Given the description of an element on the screen output the (x, y) to click on. 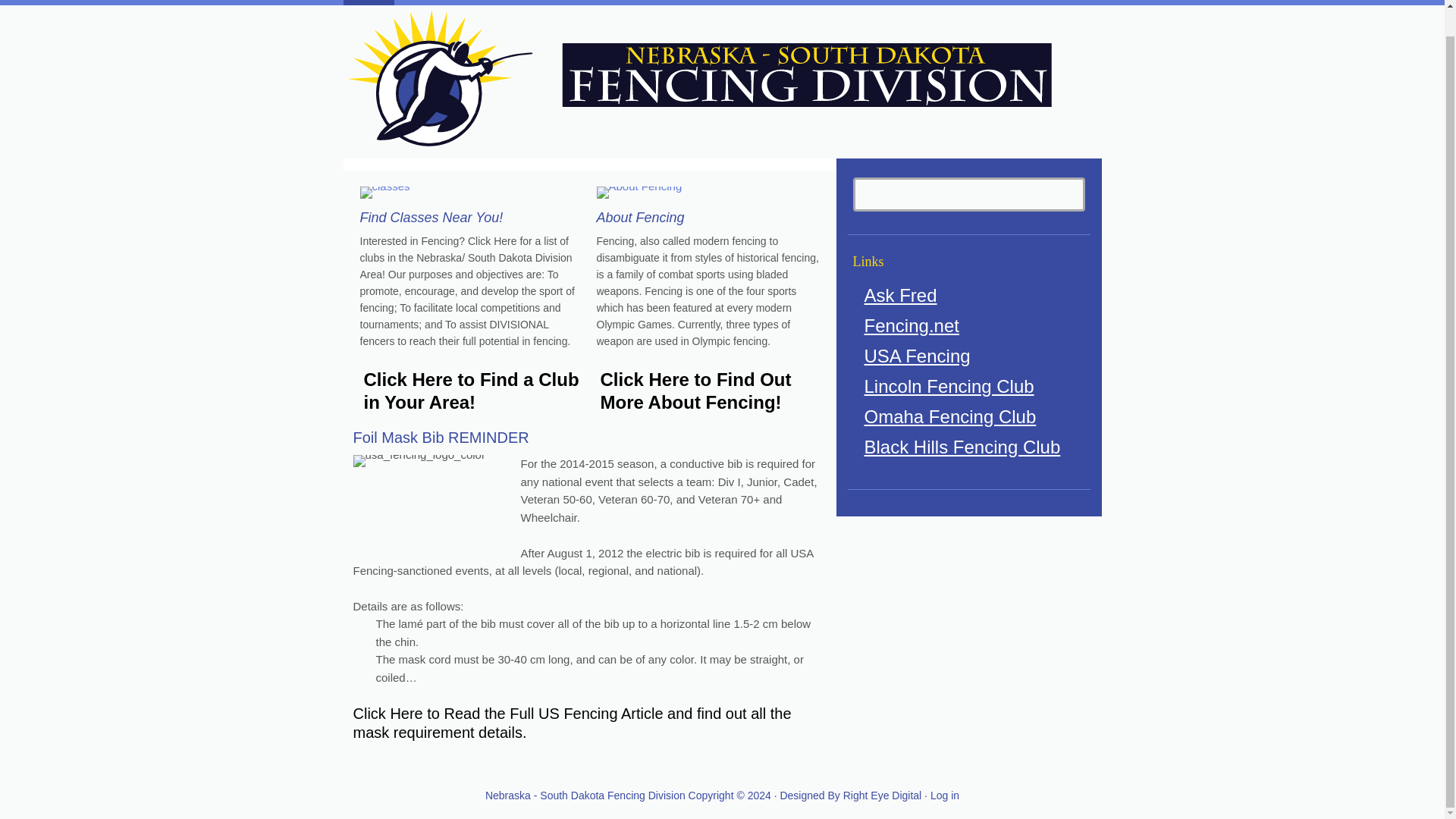
Designed By Right Eye Digital (851, 795)
Events Calendar (739, 2)
About Fencing (909, 2)
Lincoln Fencing Club (948, 385)
Fencing.net (911, 325)
Ask Fred (900, 295)
Home (367, 2)
Find Classes Near You! (430, 217)
Contact us (827, 2)
